Given the description of an element on the screen output the (x, y) to click on. 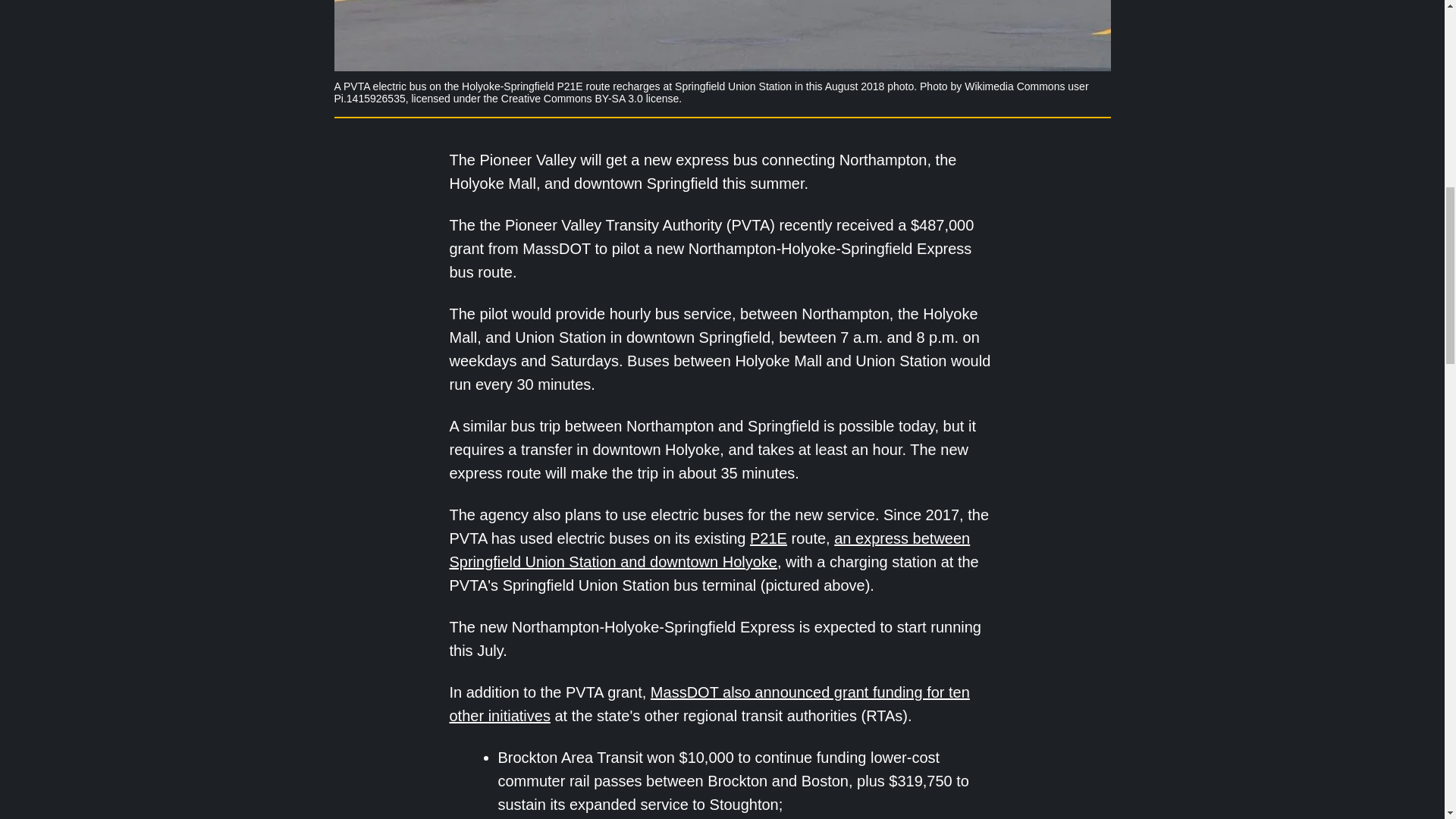
P21E (768, 538)
